Given the description of an element on the screen output the (x, y) to click on. 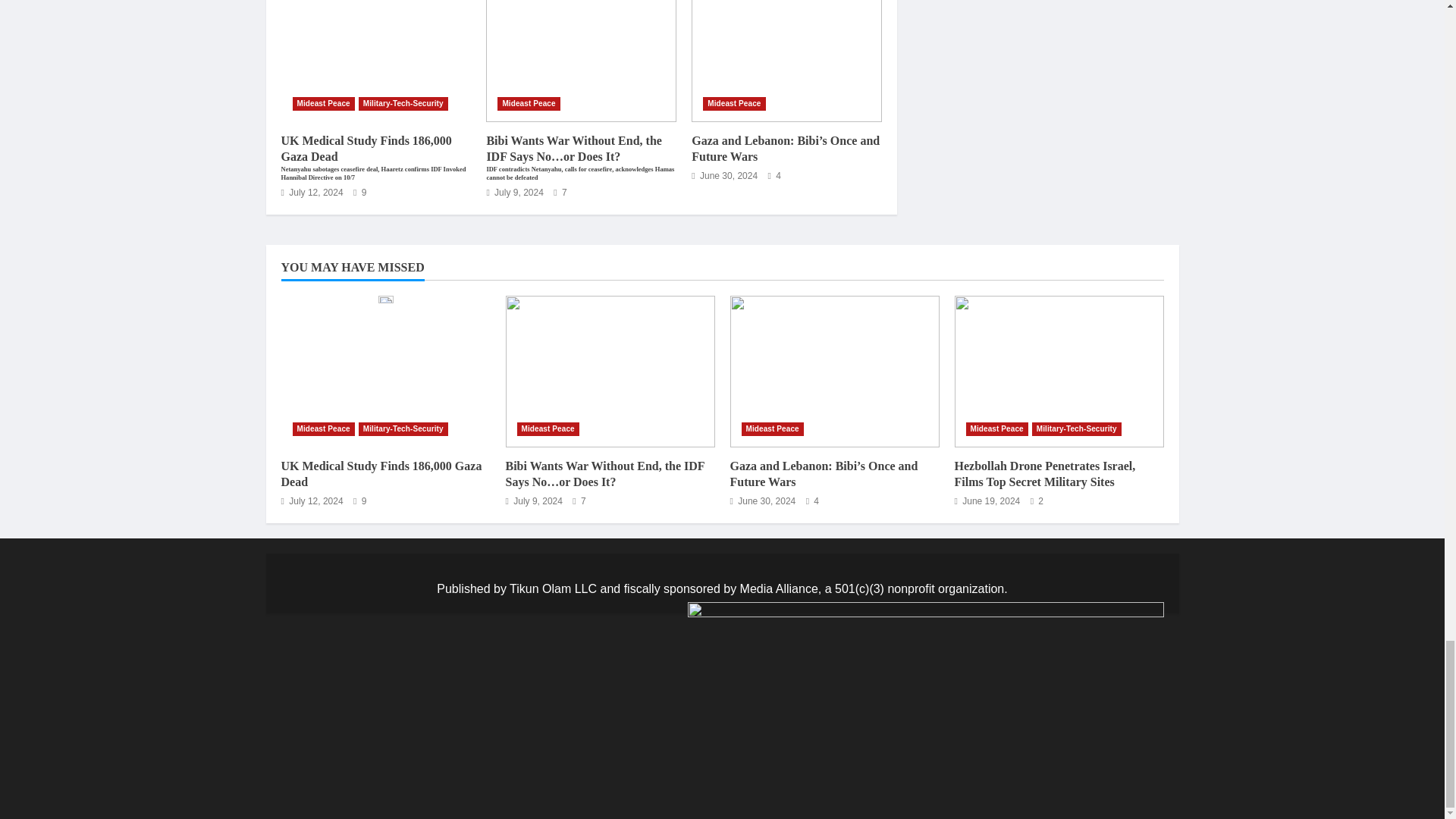
Military-Tech-Security (403, 103)
Mideast Peace (323, 103)
9 (359, 193)
